Given the description of an element on the screen output the (x, y) to click on. 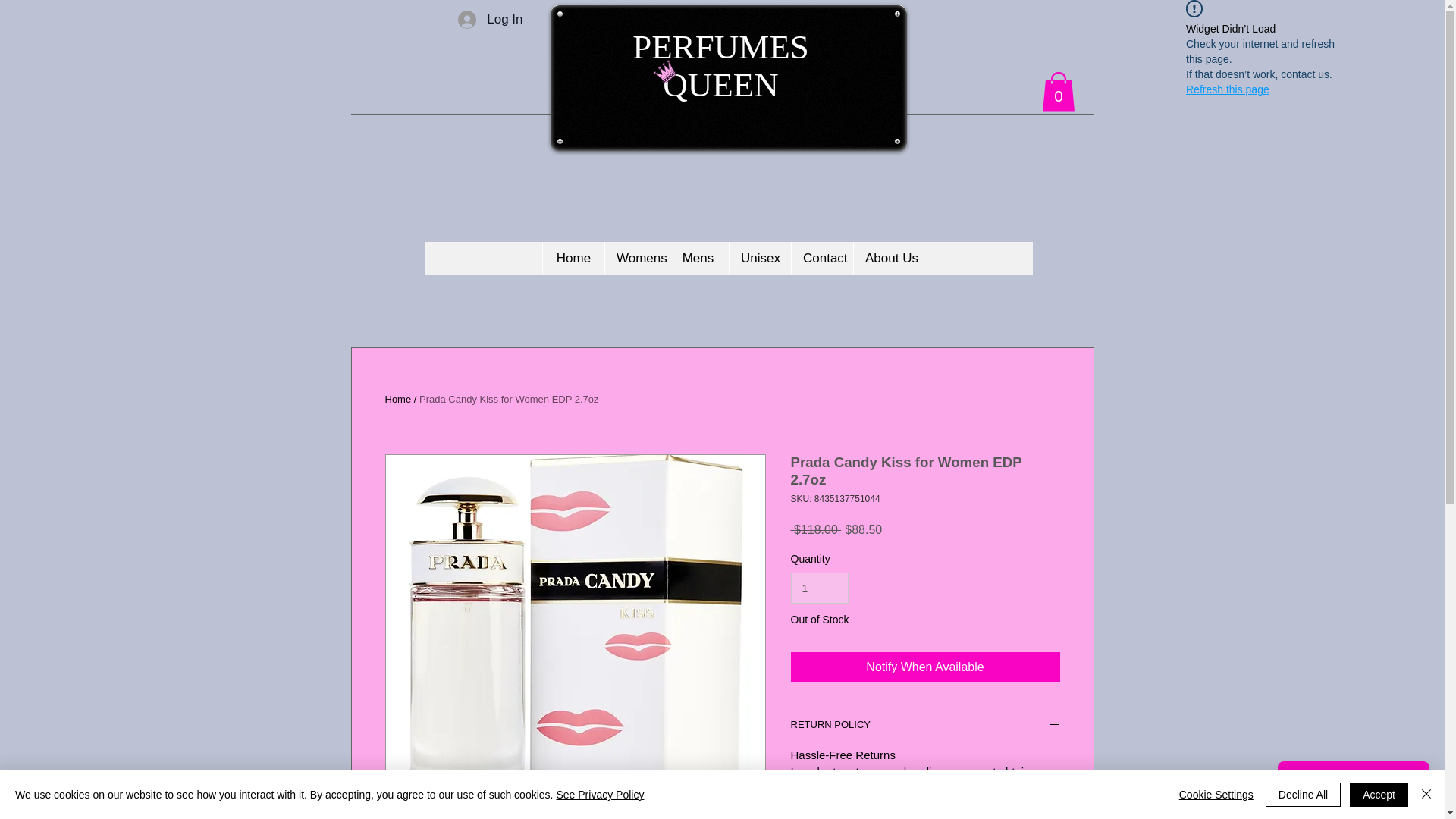
Notify When Available (924, 666)
Unisex (759, 257)
1 (818, 587)
Contact (821, 257)
Refresh this page (1227, 89)
Site Search (728, 302)
Home (398, 398)
Decline All (1302, 794)
Log In (489, 19)
Accept (1378, 794)
See Privacy Policy (599, 794)
Mens (697, 257)
Womens (635, 257)
Prada Candy Kiss for Women EDP 2.7oz (508, 398)
Facebook Like (925, 30)
